Given the description of an element on the screen output the (x, y) to click on. 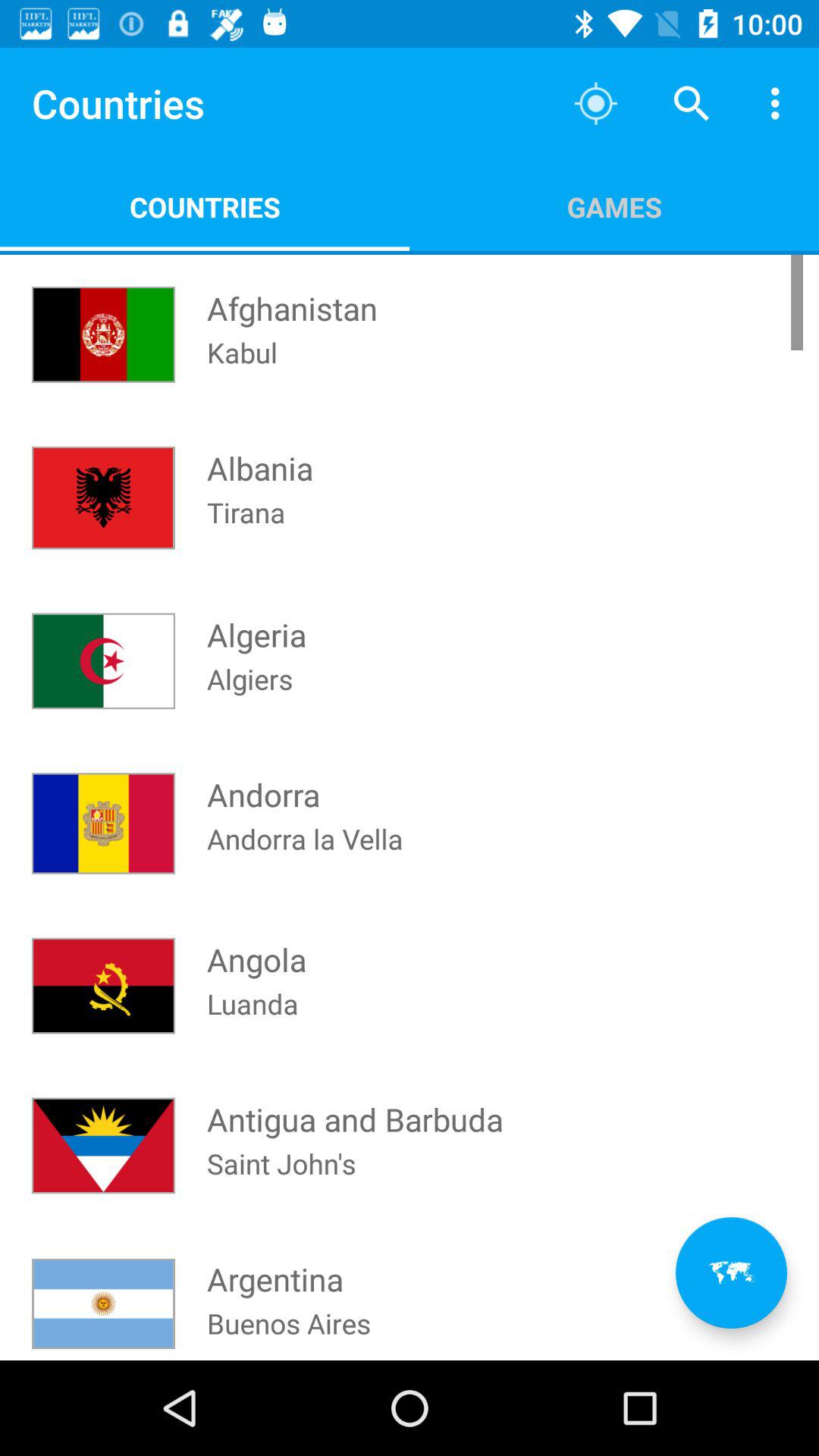
turn off the item at the bottom right corner (731, 1272)
